Given the description of an element on the screen output the (x, y) to click on. 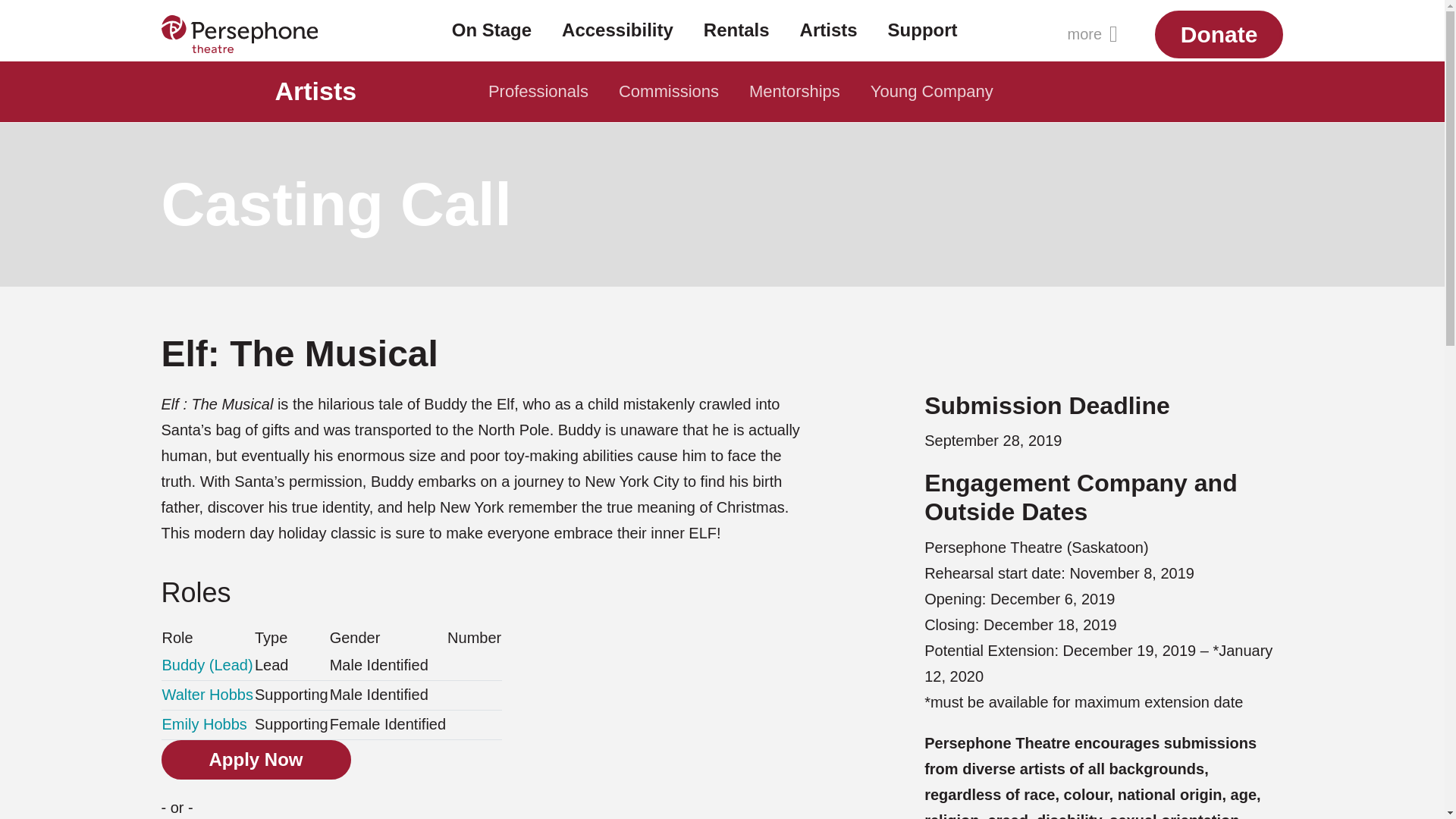
On Stage (491, 37)
Rentals (736, 37)
Accessibility (617, 37)
Professionals (537, 91)
Young Company (932, 91)
Support (922, 37)
Mentorships (794, 91)
Artists (828, 37)
Commissions (668, 91)
